Given the description of an element on the screen output the (x, y) to click on. 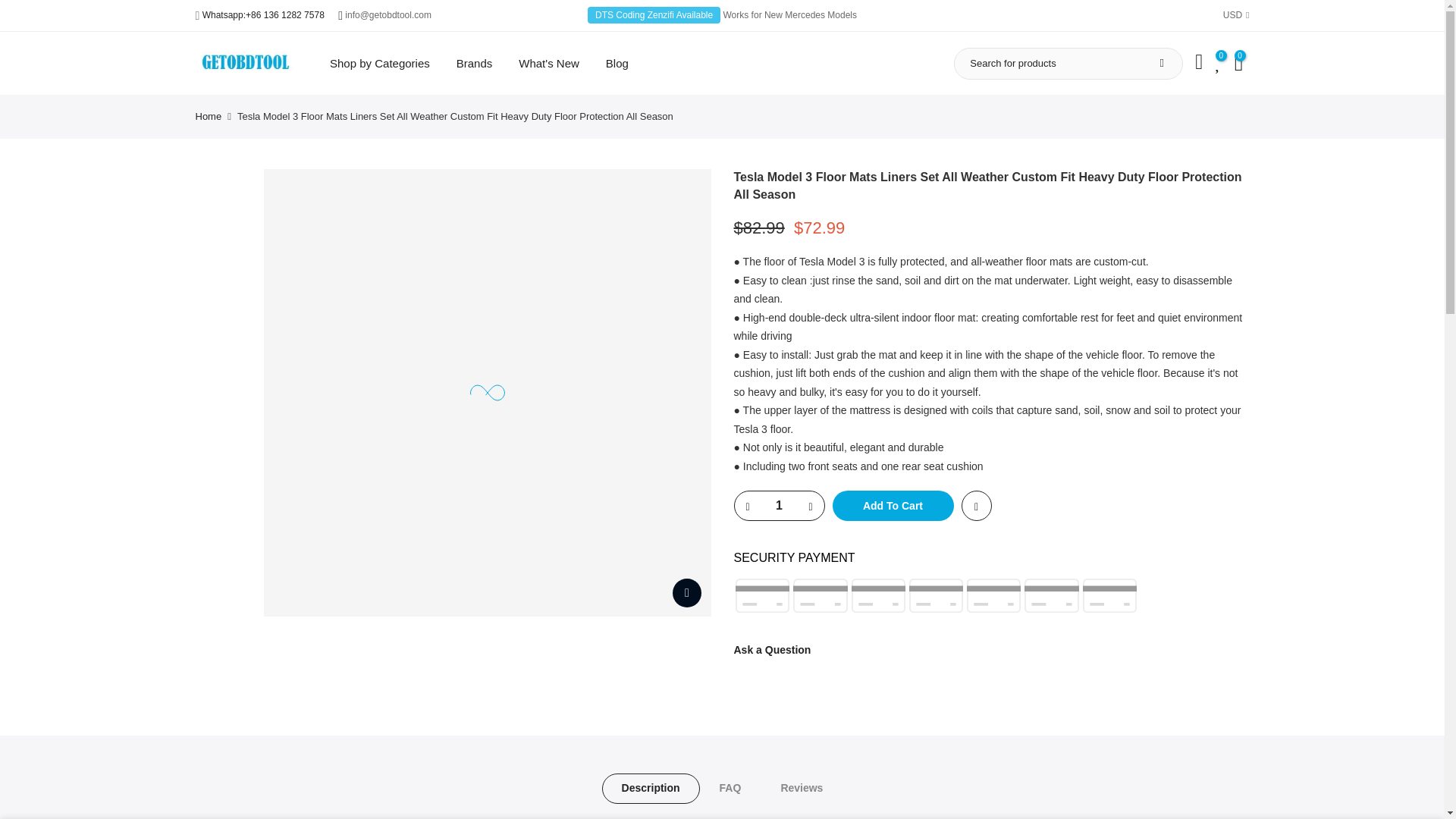
Reviews (801, 788)
FAQ (730, 788)
Add To Cart (892, 505)
What's New (548, 63)
Home (208, 116)
Brands (473, 63)
Description (651, 788)
1 (778, 505)
Ask a Question (771, 649)
Shop by Categories (380, 63)
